Given the description of an element on the screen output the (x, y) to click on. 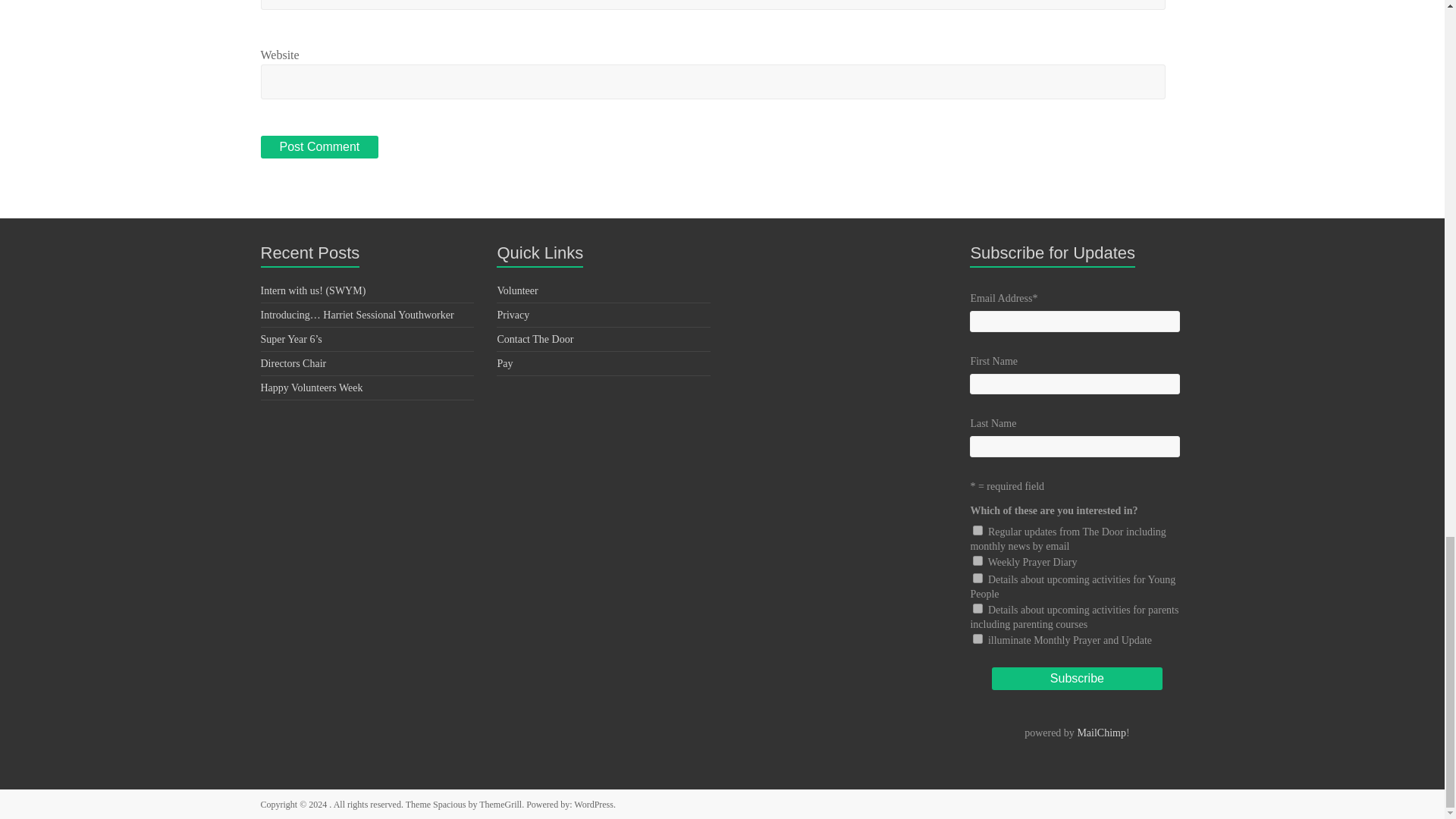
WordPress (592, 804)
Details about upcoming activities for Young People (977, 578)
Weekly Prayer Diary (977, 560)
Post Comment (319, 146)
illuminate Monthly Prayer and Update (977, 638)
Subscribe (1077, 678)
Spacious (448, 804)
